Given the description of an element on the screen output the (x, y) to click on. 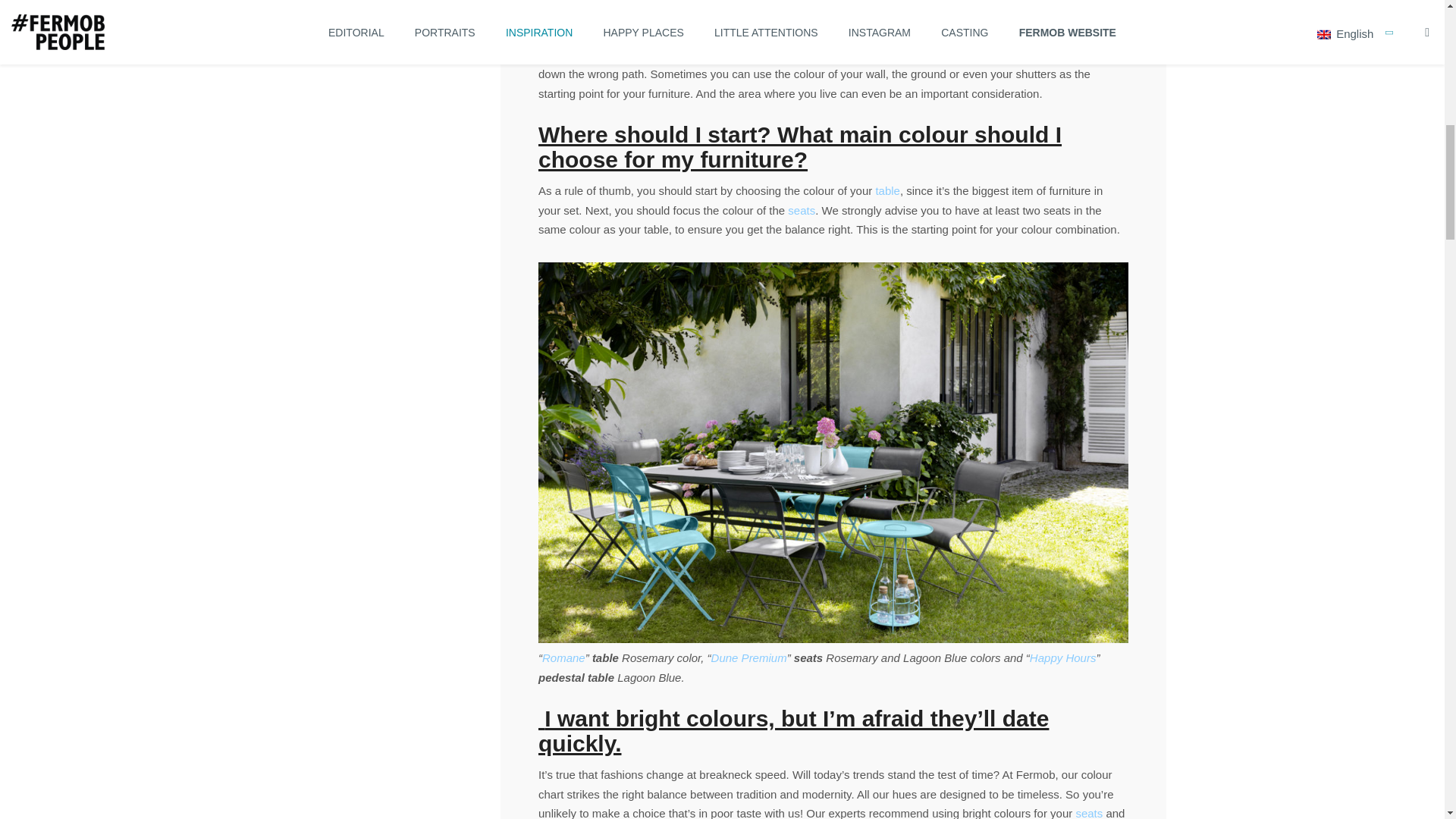
seats (1088, 812)
Dune (724, 657)
Romane (563, 657)
seats (801, 210)
Happy Hours (1062, 657)
table (887, 190)
Premium (762, 657)
